Given the description of an element on the screen output the (x, y) to click on. 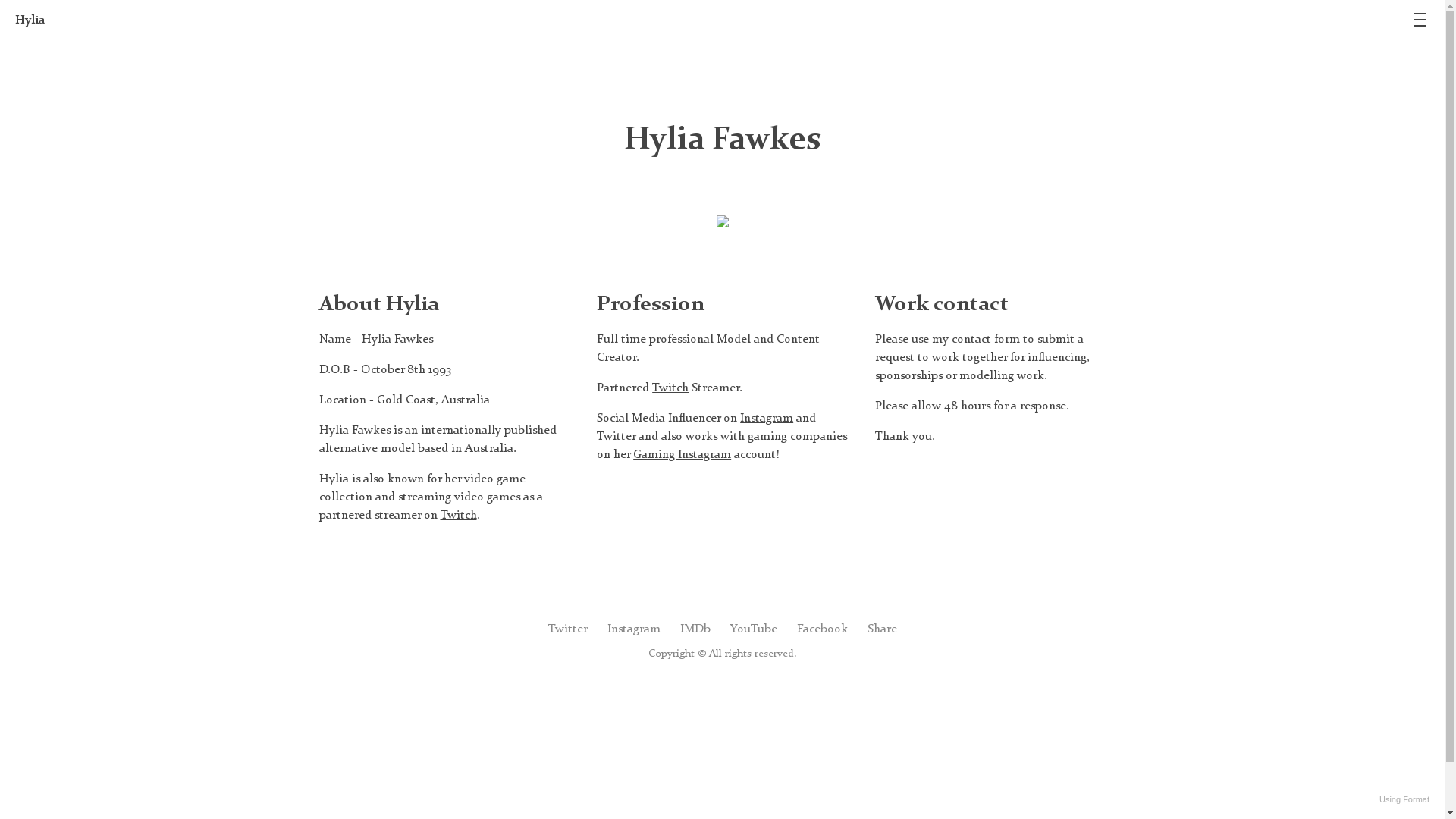
Facebook Element type: text (821, 628)
Twitch Element type: text (457, 514)
Share Element type: text (882, 628)
Twitter Element type: text (615, 435)
Twitter Element type: text (566, 628)
IMDb Element type: text (694, 628)
Hylia Element type: text (30, 19)
Instagram Element type: text (766, 417)
Instagram Element type: text (632, 628)
YouTube Element type: text (752, 628)
Twitch Element type: text (670, 386)
Gaming Instagram Element type: text (682, 453)
contact form Element type: text (985, 338)
Using Format Element type: text (1404, 799)
